Given the description of an element on the screen output the (x, y) to click on. 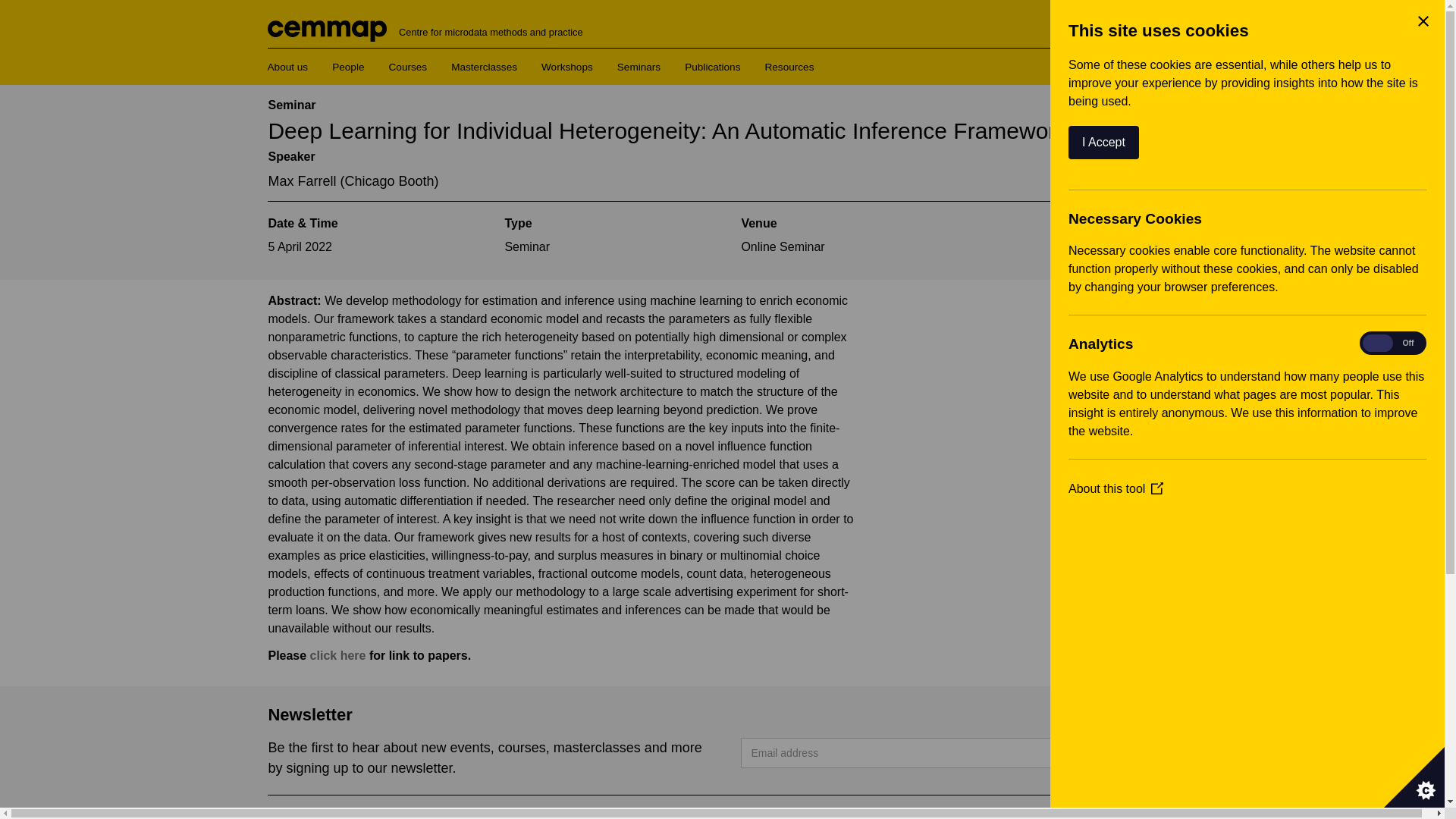
Publications (711, 66)
Search (1147, 57)
I Accept (1243, 142)
Masterclasses (483, 66)
About us (286, 66)
click here (338, 656)
Workshops (566, 66)
Search (1147, 57)
Courses (407, 66)
Resources (788, 66)
People (347, 66)
Submit (1132, 752)
Submit (1132, 752)
Seminars (639, 66)
